Given the description of an element on the screen output the (x, y) to click on. 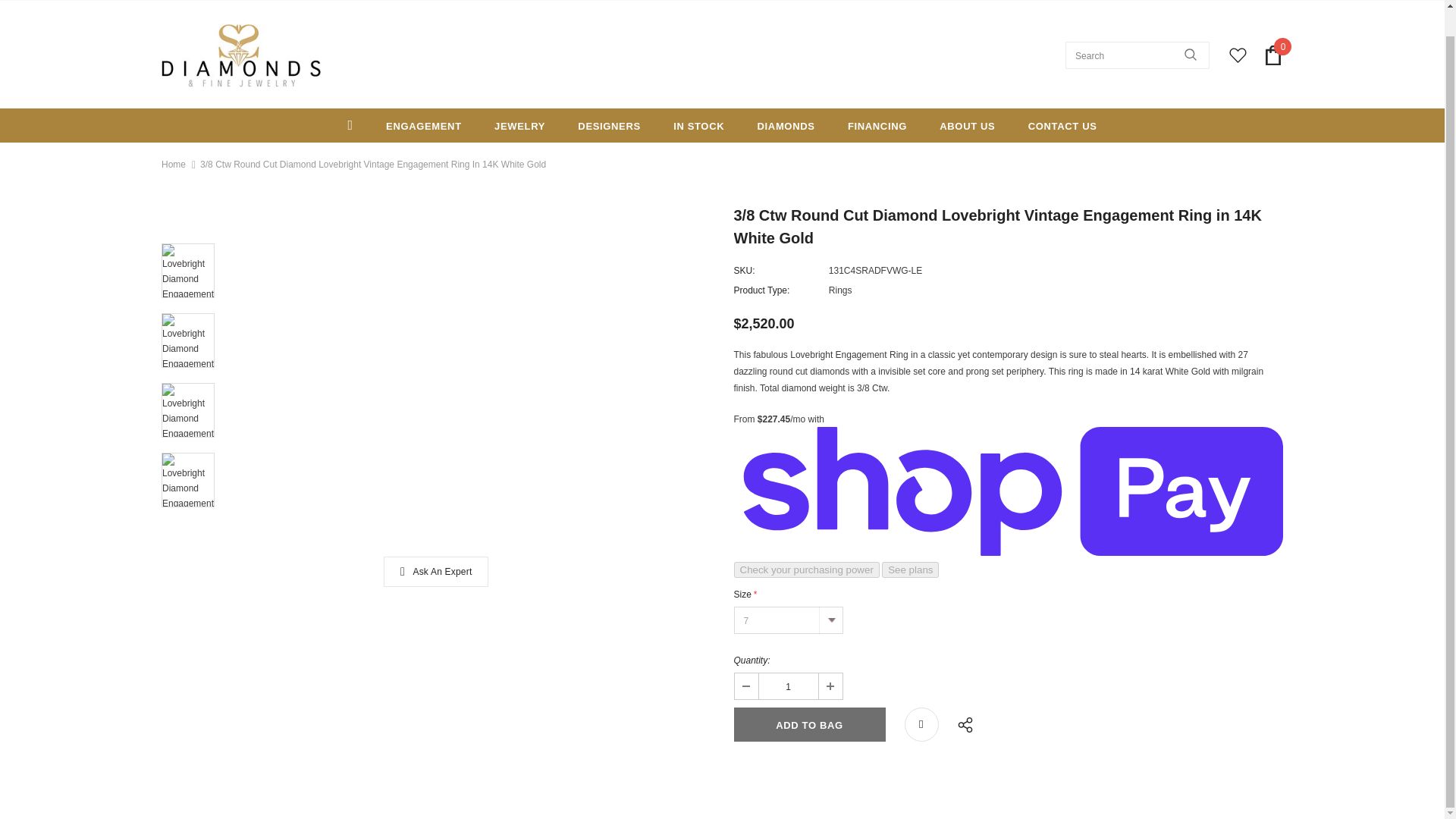
1 (787, 686)
Add to Bag (809, 724)
